Given the description of an element on the screen output the (x, y) to click on. 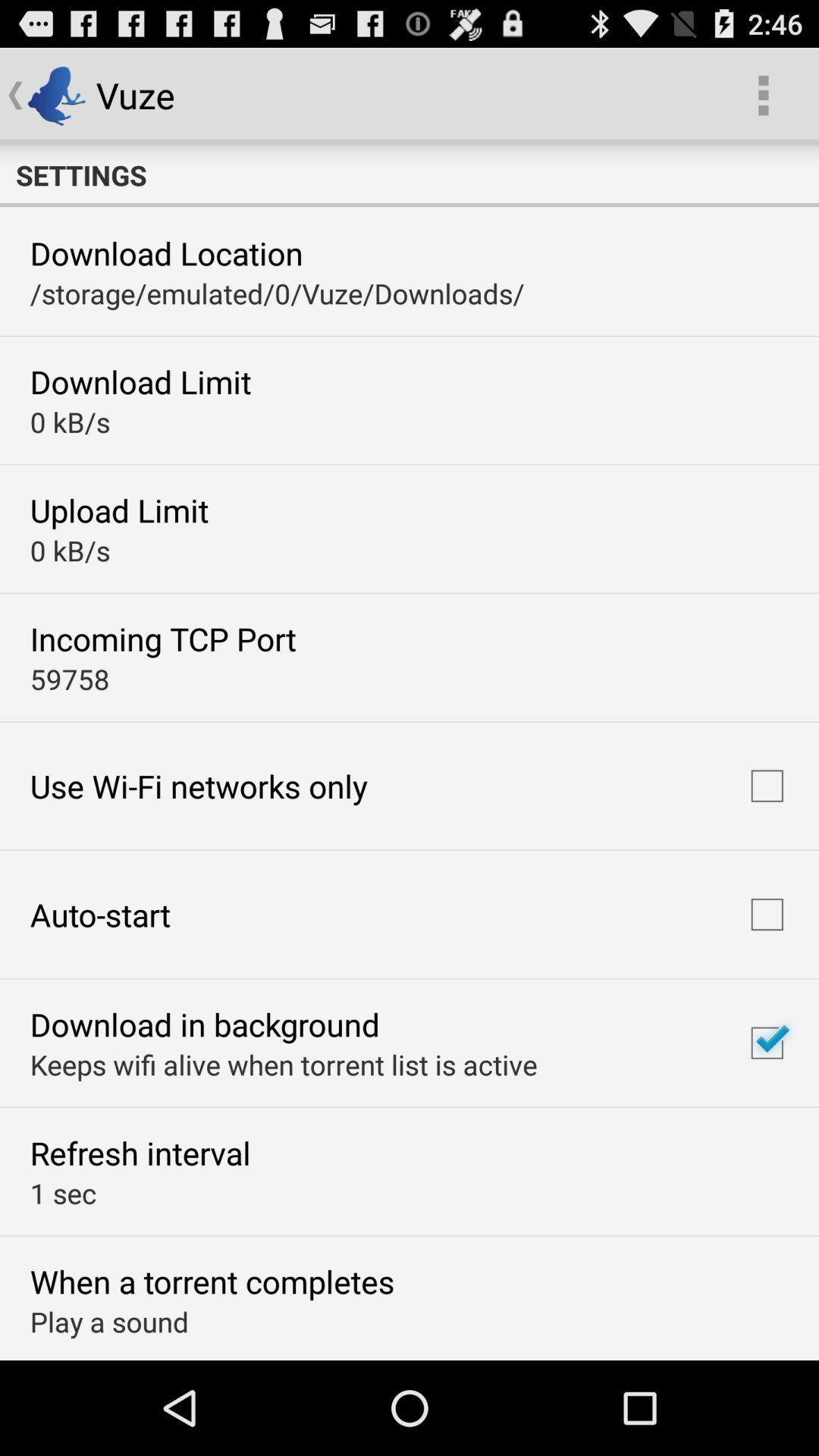
press the incoming tcp port app (163, 638)
